Given the description of an element on the screen output the (x, y) to click on. 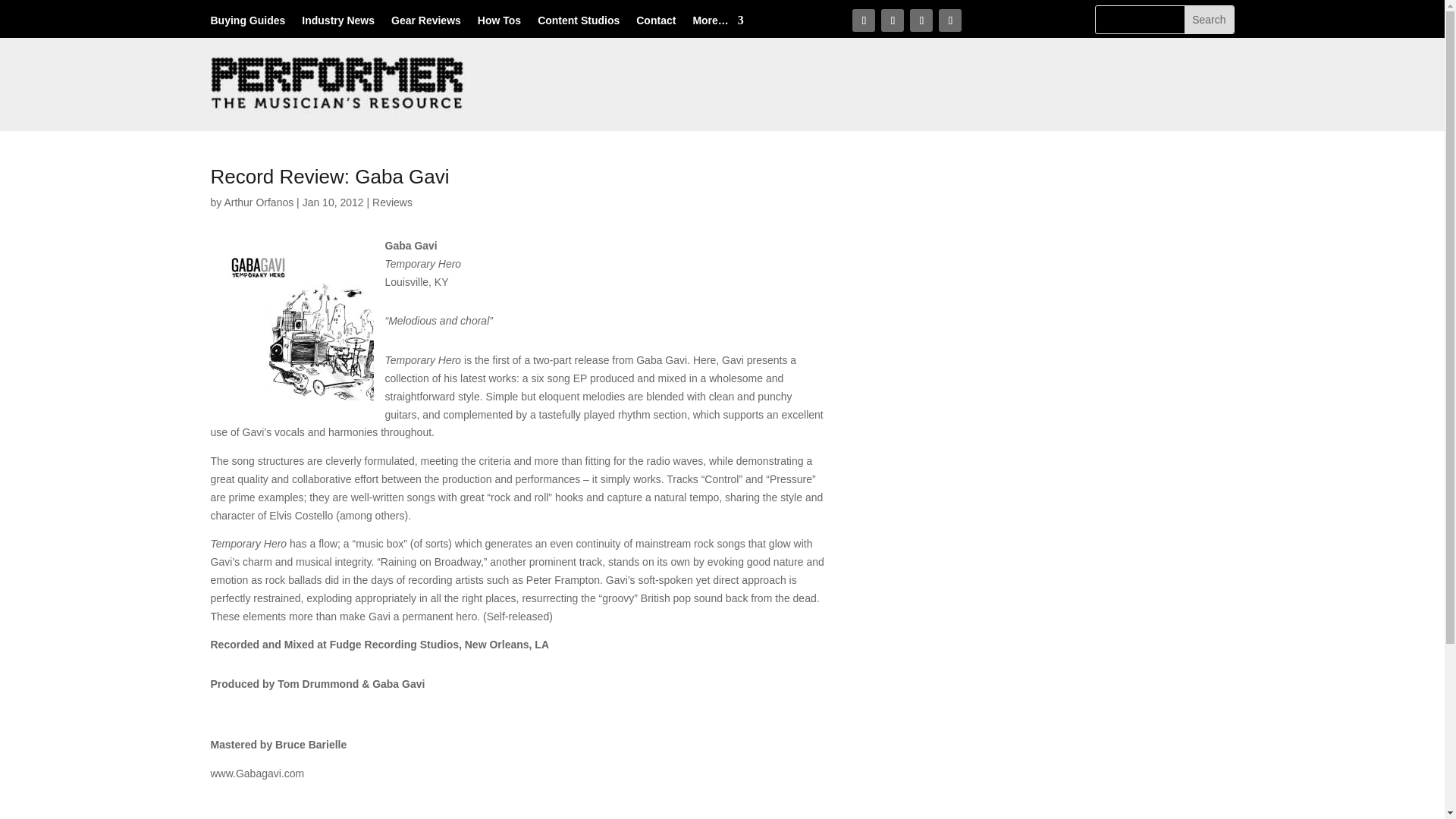
performer-logo-short (339, 84)
Search (1209, 19)
Search (1209, 19)
Buying Guides (248, 23)
Contact (655, 23)
Follow on Instagram (921, 20)
Content Studios (578, 23)
Follow on X (892, 20)
How Tos (499, 23)
Follow on Youtube (949, 20)
